Given the description of an element on the screen output the (x, y) to click on. 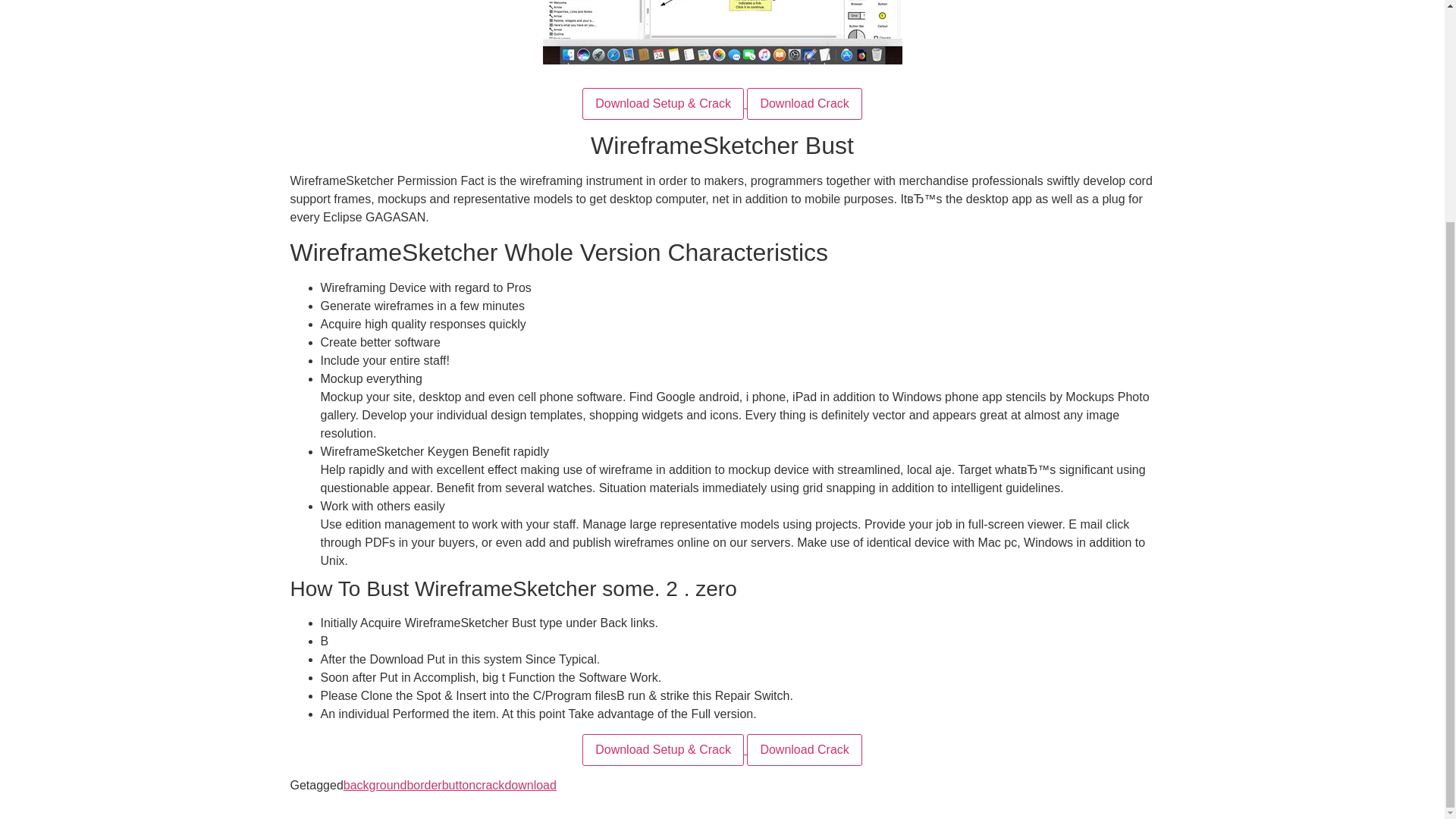
background (375, 784)
download (529, 784)
crack (489, 784)
border (423, 784)
Download Crack (803, 103)
button (459, 784)
Download Crack (803, 749)
